Given the description of an element on the screen output the (x, y) to click on. 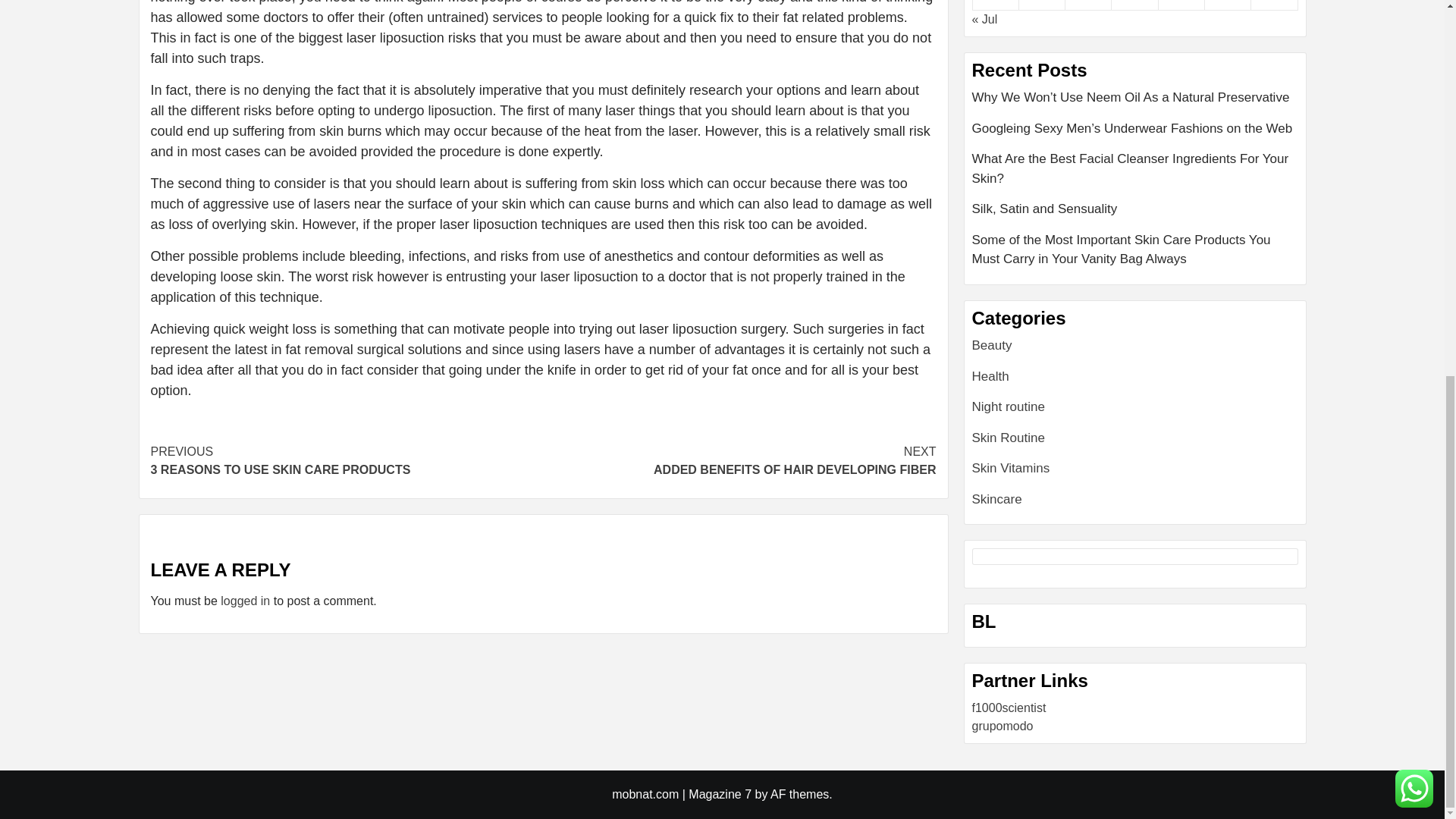
logged in (739, 461)
